Given the description of an element on the screen output the (x, y) to click on. 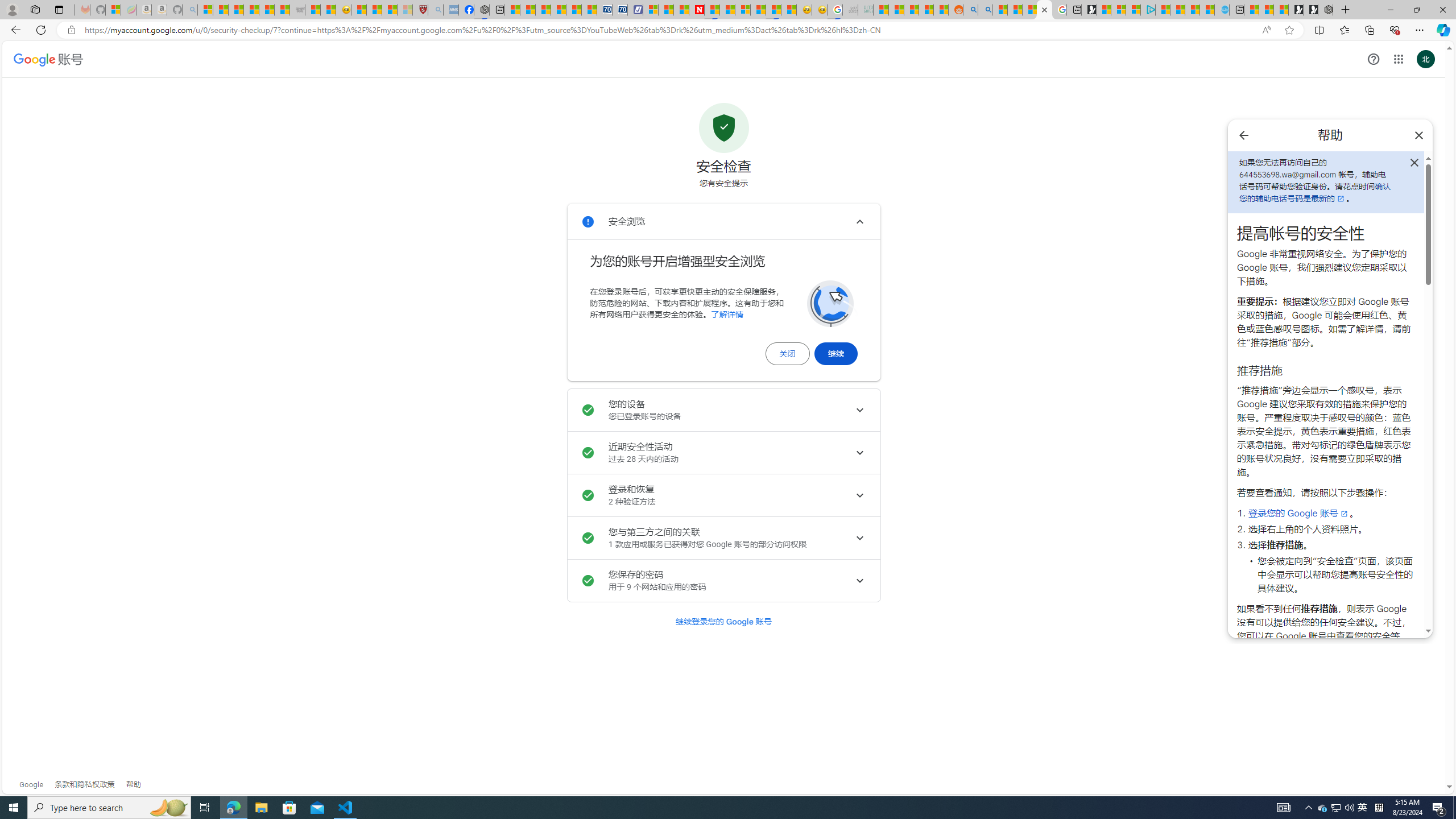
Robert H. Shmerling, MD - Harvard Health (419, 9)
